Given the description of an element on the screen output the (x, y) to click on. 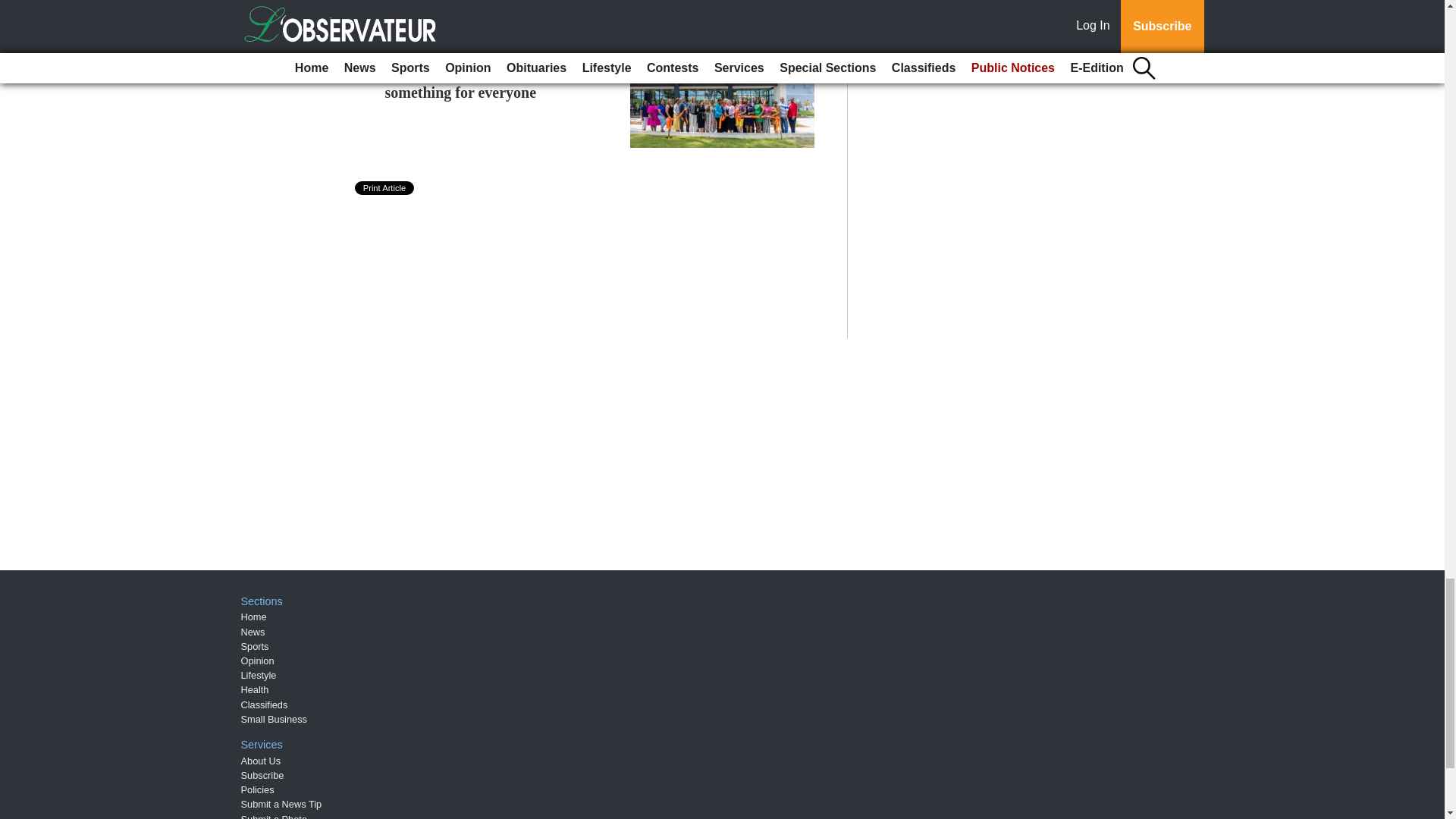
Print Article (384, 187)
